Given the description of an element on the screen output the (x, y) to click on. 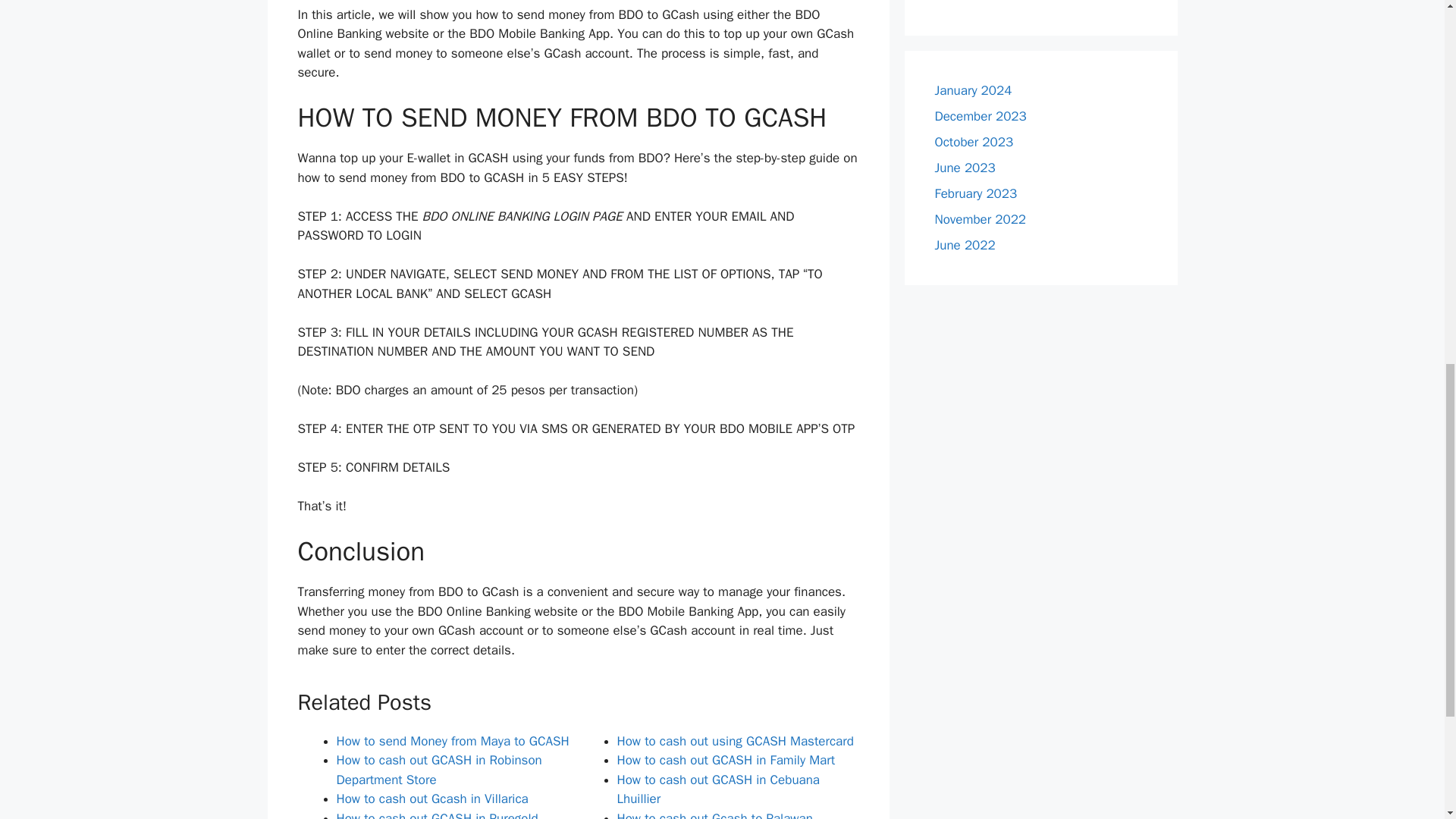
October 2023 (973, 141)
January 2024 (972, 90)
How to cash out GCASH in Puregold (437, 814)
February 2023 (975, 193)
How to cash out GCASH in Robinson Department Store (438, 769)
How to cash out GCASH in Cebuana Lhuillier (719, 789)
How to cash out GCASH in Family Mart (726, 760)
June 2022 (964, 245)
How to cash out Gcash to Palawan (714, 814)
